Given the description of an element on the screen output the (x, y) to click on. 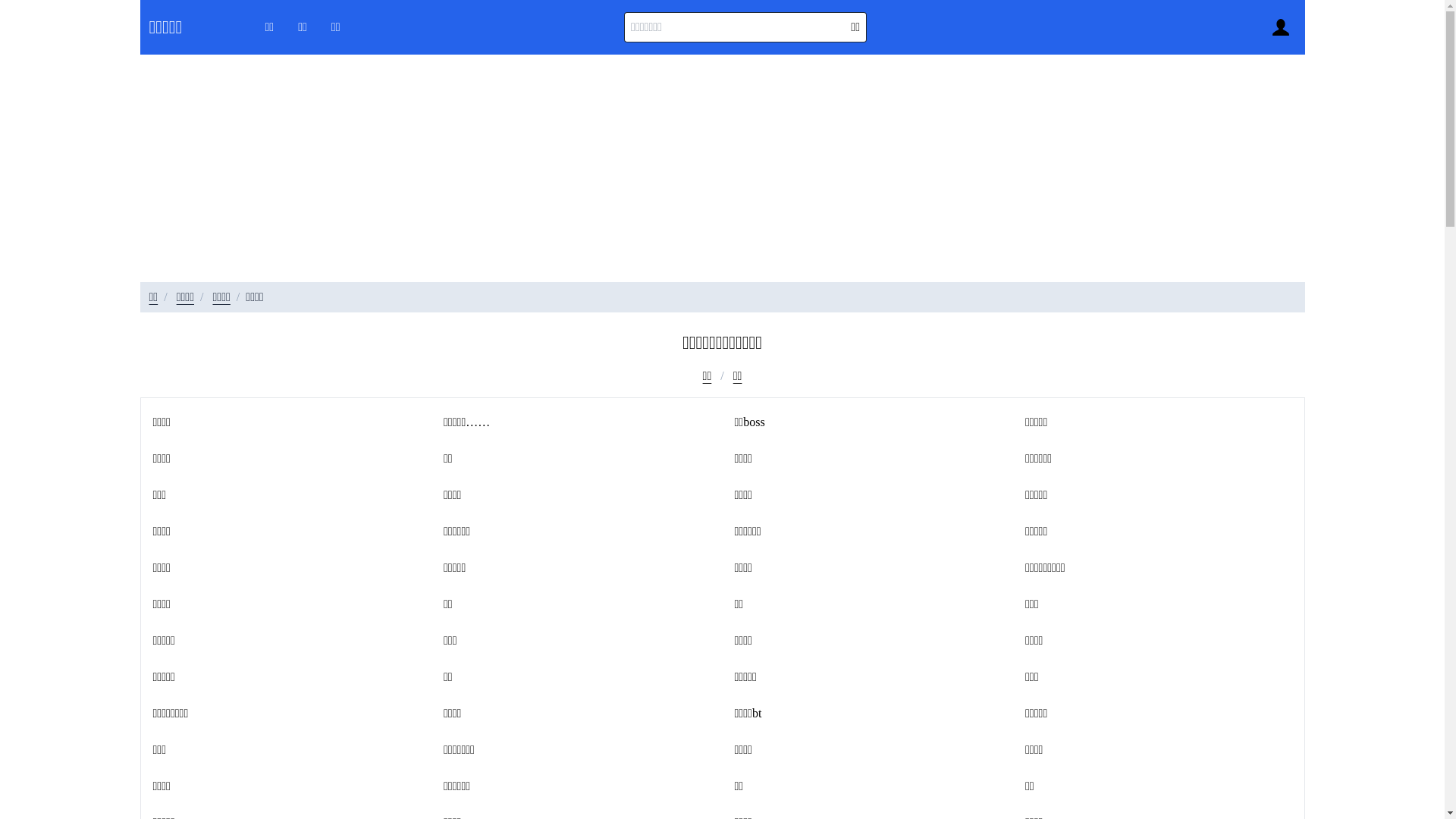
Advertisement Element type: hover (721, 168)
